Given the description of an element on the screen output the (x, y) to click on. 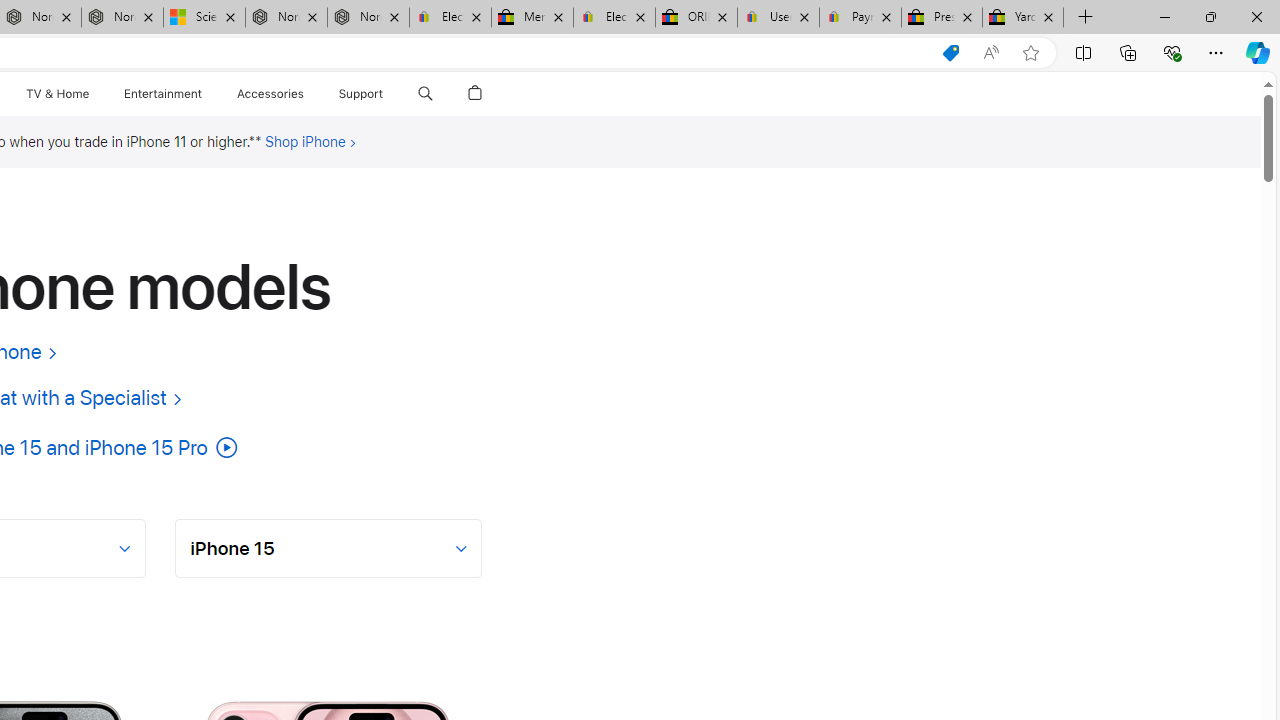
Support (361, 93)
Accessories (269, 93)
Accessories (269, 93)
Accessories menu (306, 93)
Shopping Bag (475, 93)
TV and Home (56, 93)
AutomationID: globalnav-bag (475, 93)
